Given the description of an element on the screen output the (x, y) to click on. 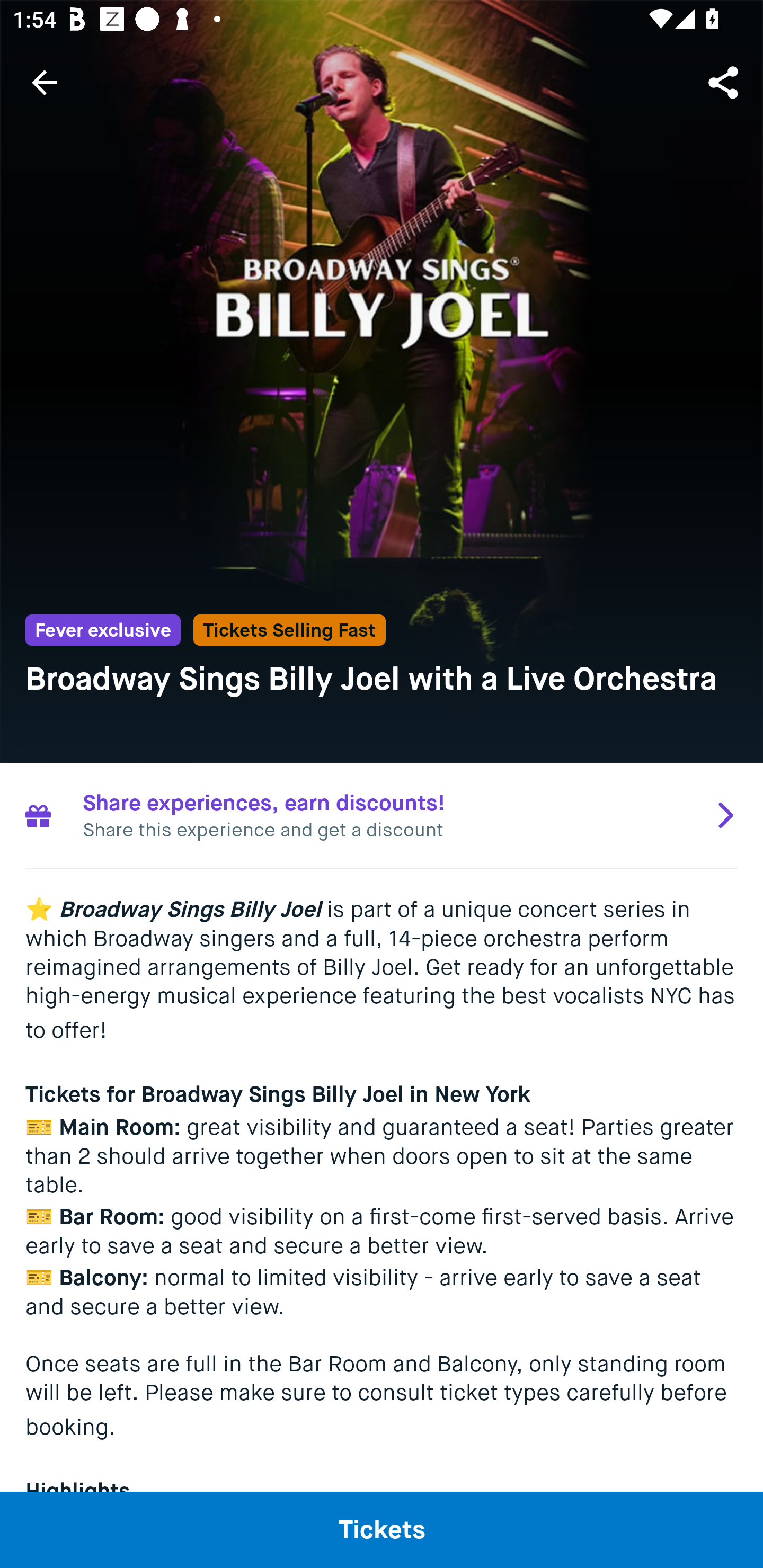
Navigate up (44, 82)
Share (724, 81)
Tickets (381, 1529)
